Given the description of an element on the screen output the (x, y) to click on. 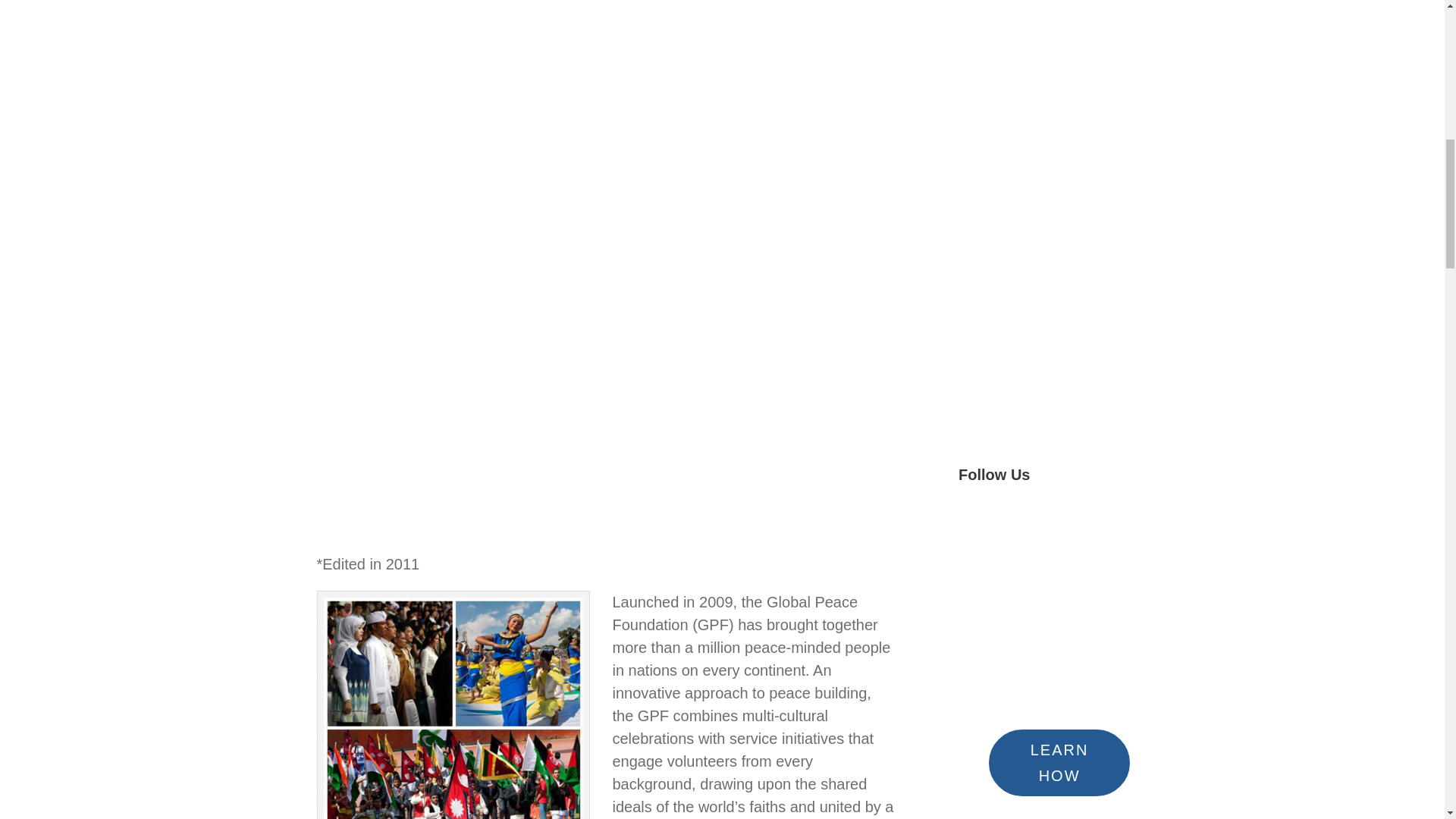
Follow on LinkedIn (1091, 526)
Follow on Youtube (1031, 526)
Follow on Instagram (1061, 526)
Follow on X (1000, 526)
Follow on Facebook (970, 526)
